Given the description of an element on the screen output the (x, y) to click on. 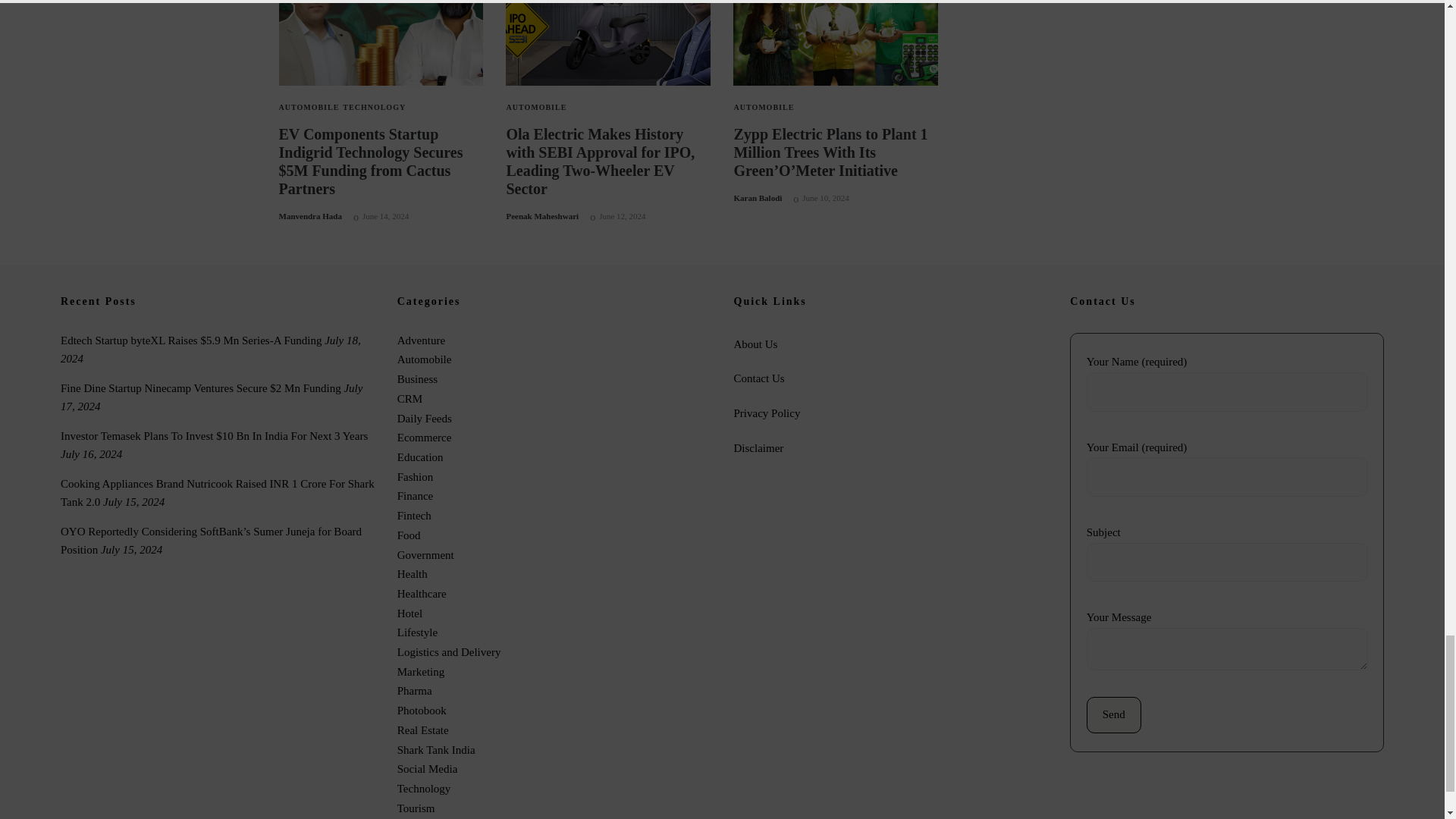
Send (1113, 714)
